Given the description of an element on the screen output the (x, y) to click on. 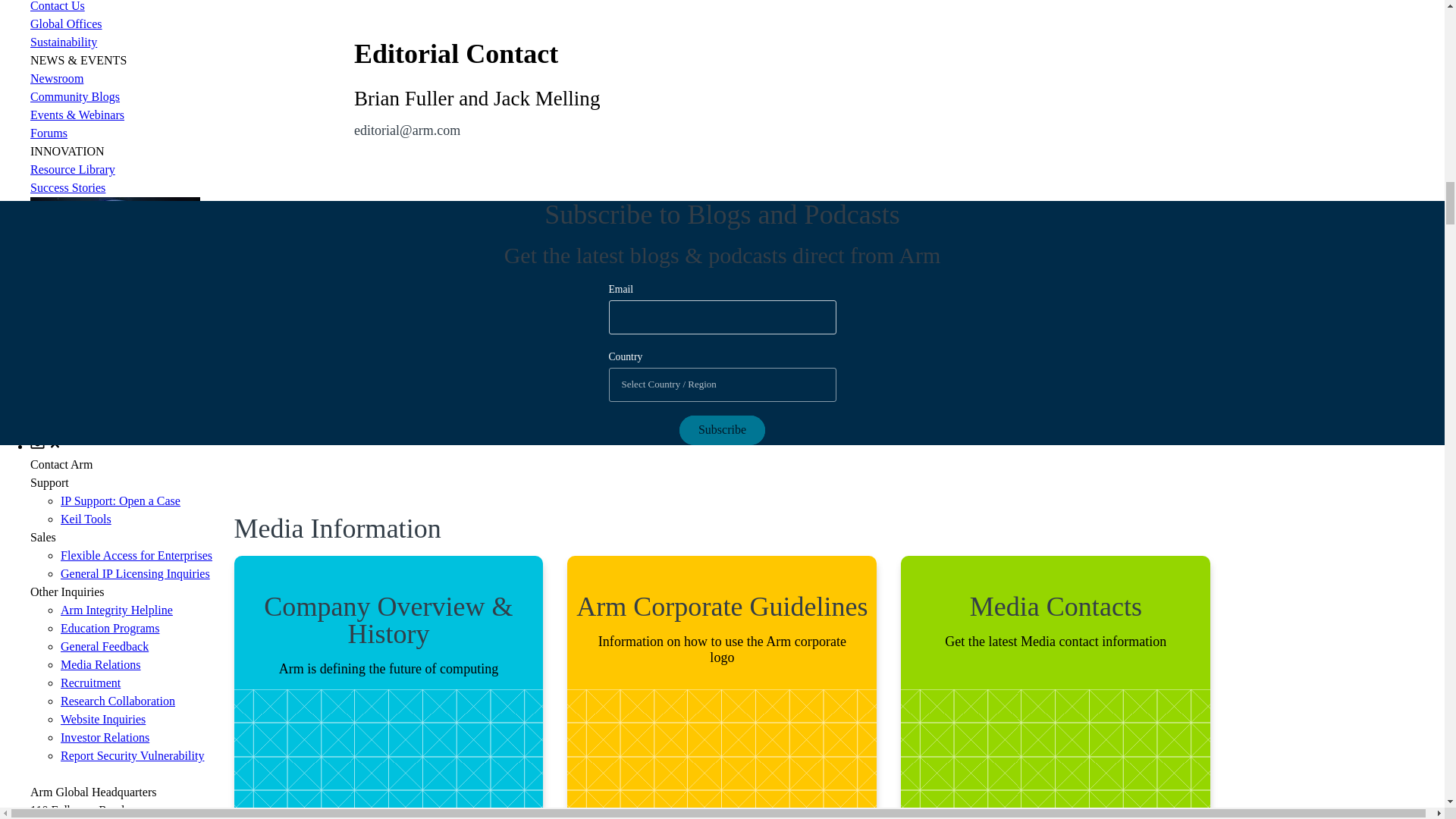
Subscribe (722, 430)
